Given the description of an element on the screen output the (x, y) to click on. 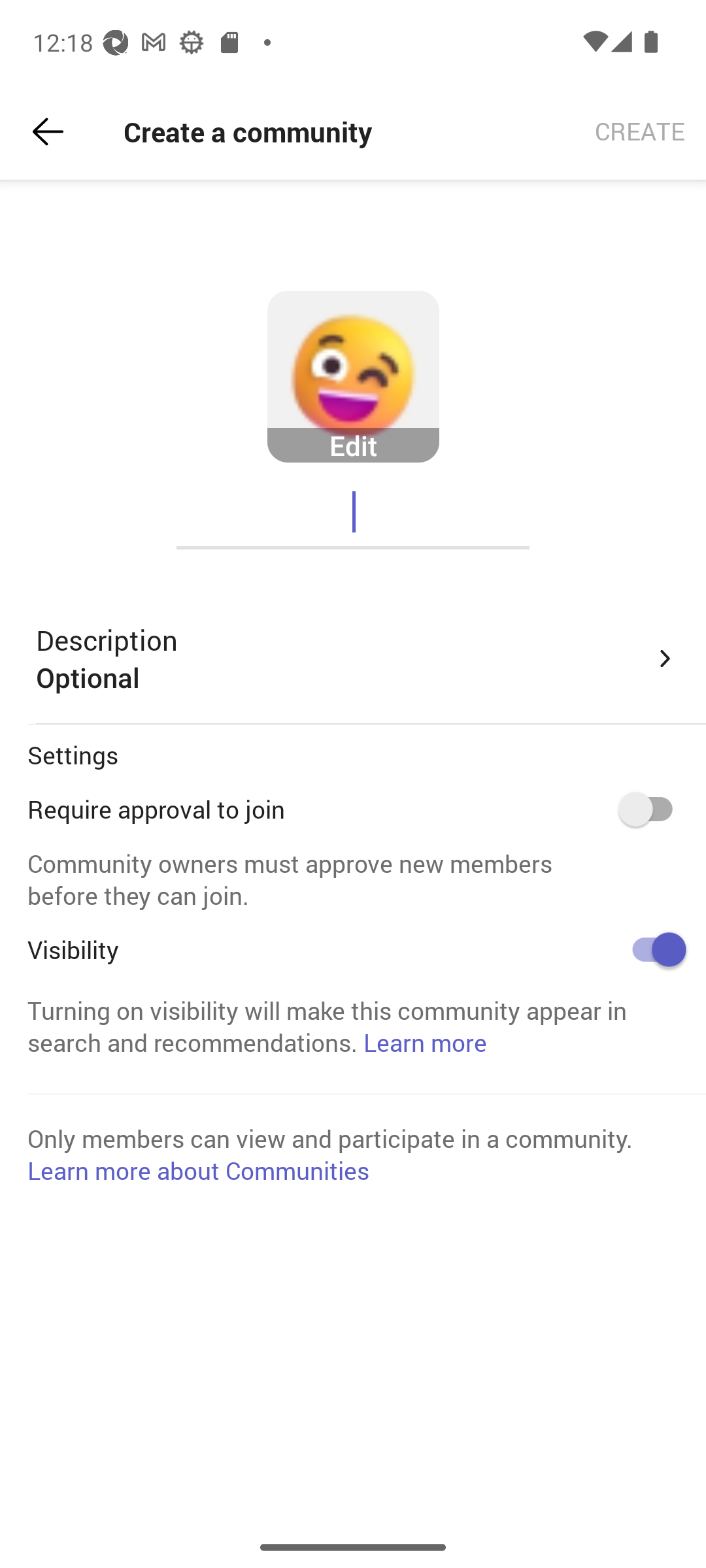
Back (48, 131)
CREATE (639, 131)
Edit community image Edit (353, 377)
Description Optional (357, 659)
Require approval to join (652, 808)
Visibility (652, 949)
